Given the description of an element on the screen output the (x, y) to click on. 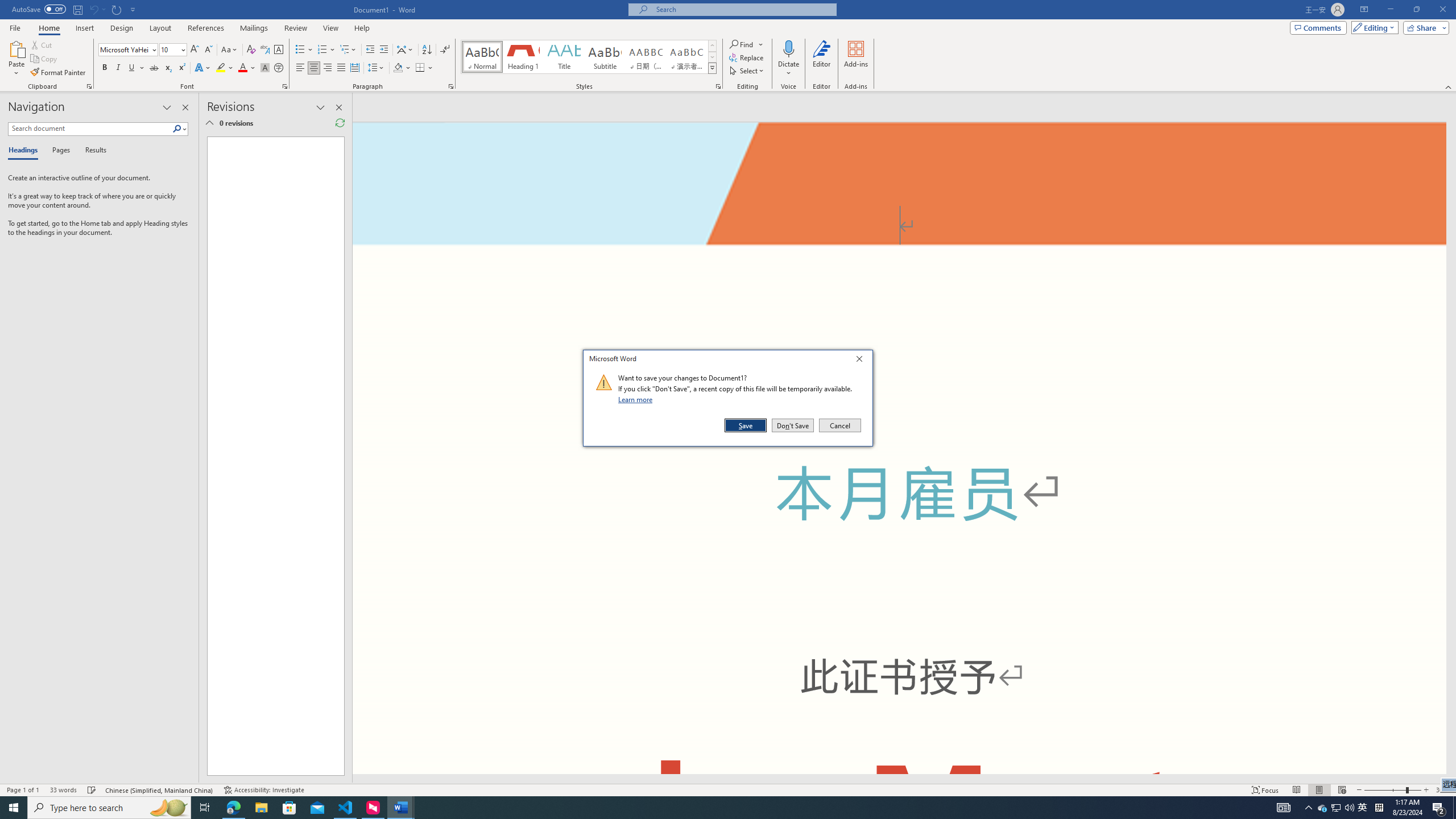
Type here to search (108, 807)
Bold (104, 67)
Format Painter (58, 72)
Learn more (636, 399)
Change Case (229, 49)
Start (13, 807)
Task View (204, 807)
Increase Indent (383, 49)
Row up (711, 45)
Microsoft search (742, 9)
AutomationID: QuickStylesGallery (588, 56)
Tray Input Indicator - Chinese (Simplified, China) (1378, 807)
